Given the description of an element on the screen output the (x, y) to click on. 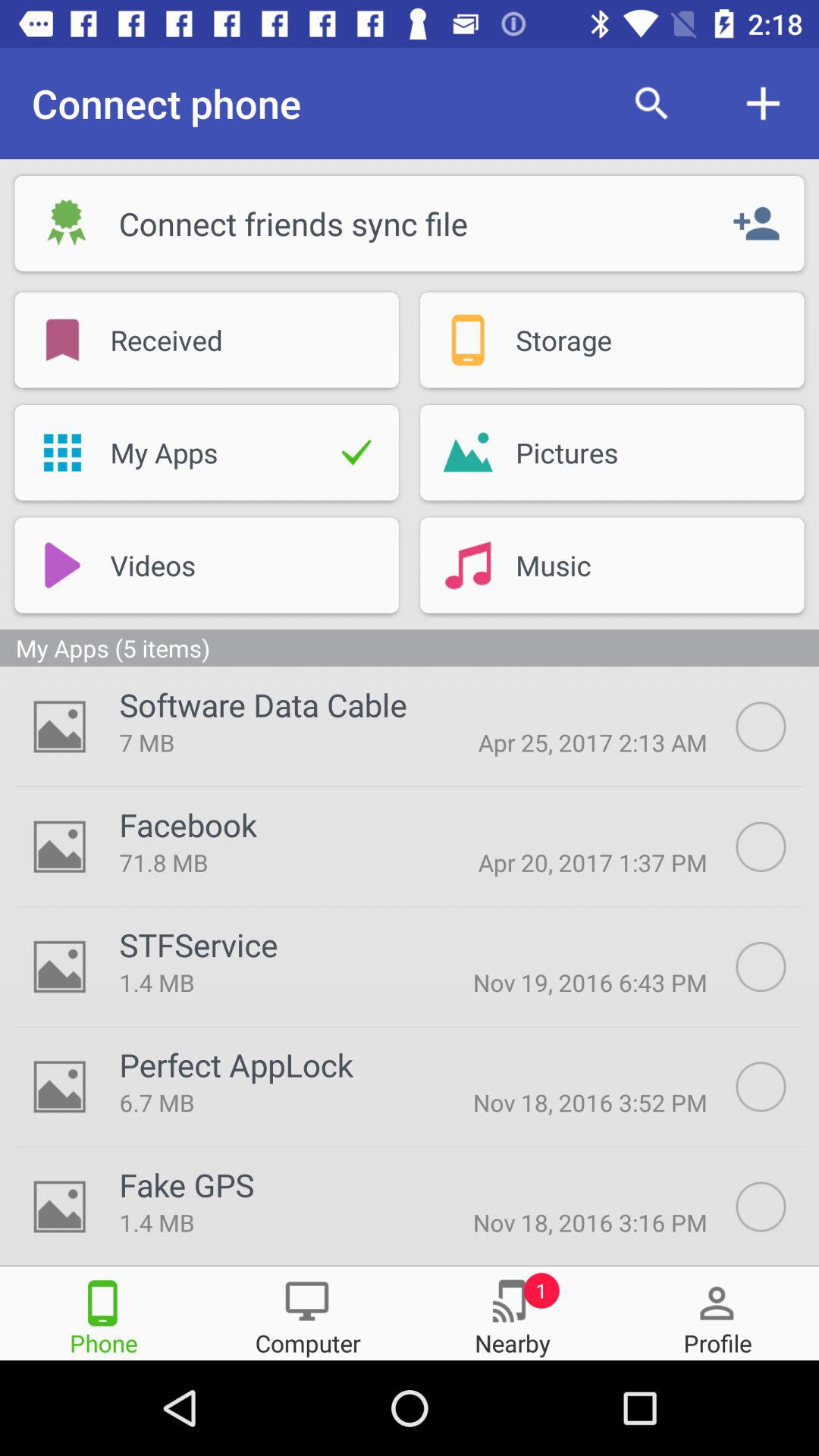
flip to the 71.8 mb item (266, 862)
